Given the description of an element on the screen output the (x, y) to click on. 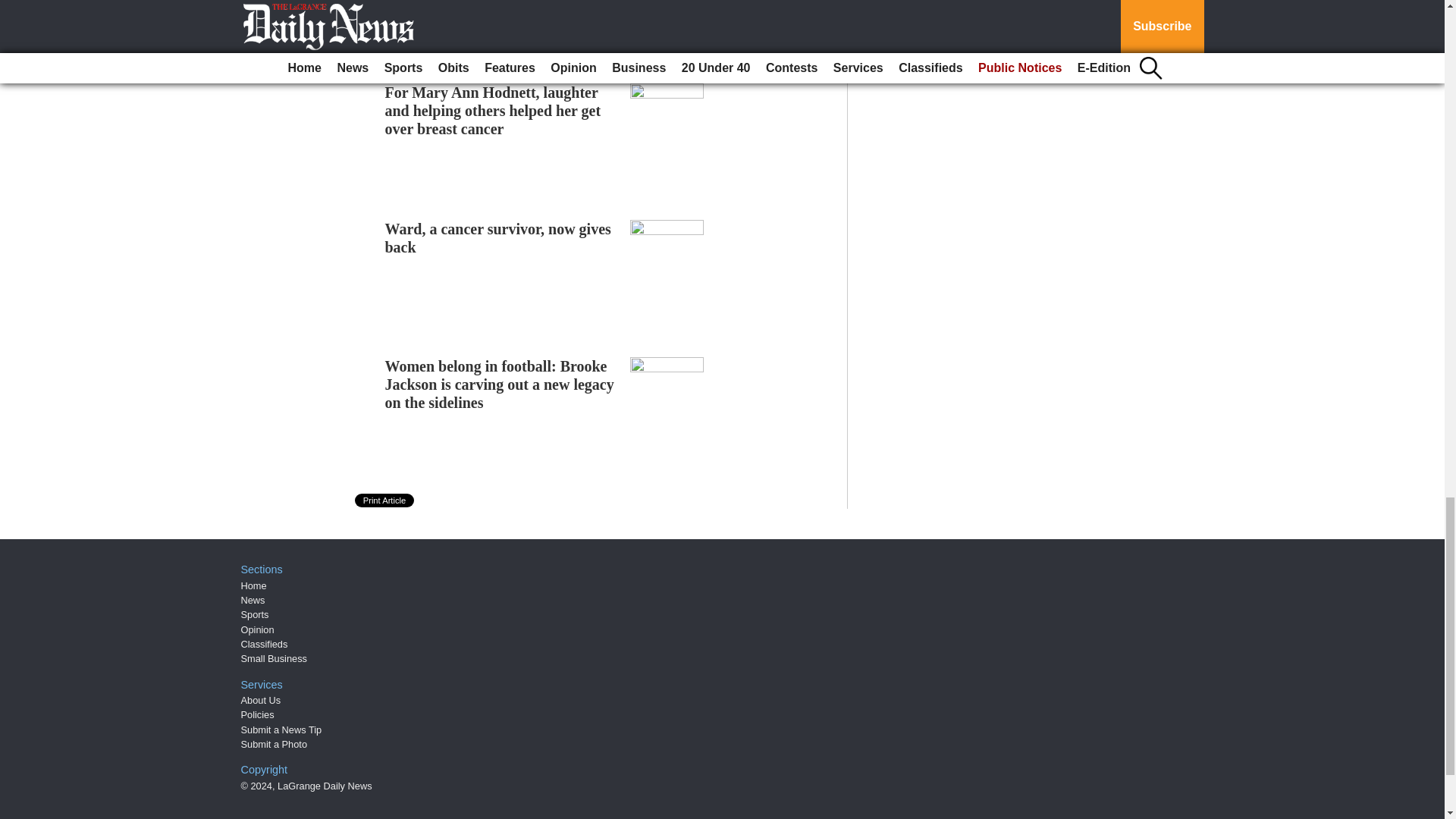
Ward, a cancer survivor, now gives back (498, 237)
Ward, a cancer survivor, now gives back (498, 237)
Home (253, 585)
Print Article (384, 499)
